Given the description of an element on the screen output the (x, y) to click on. 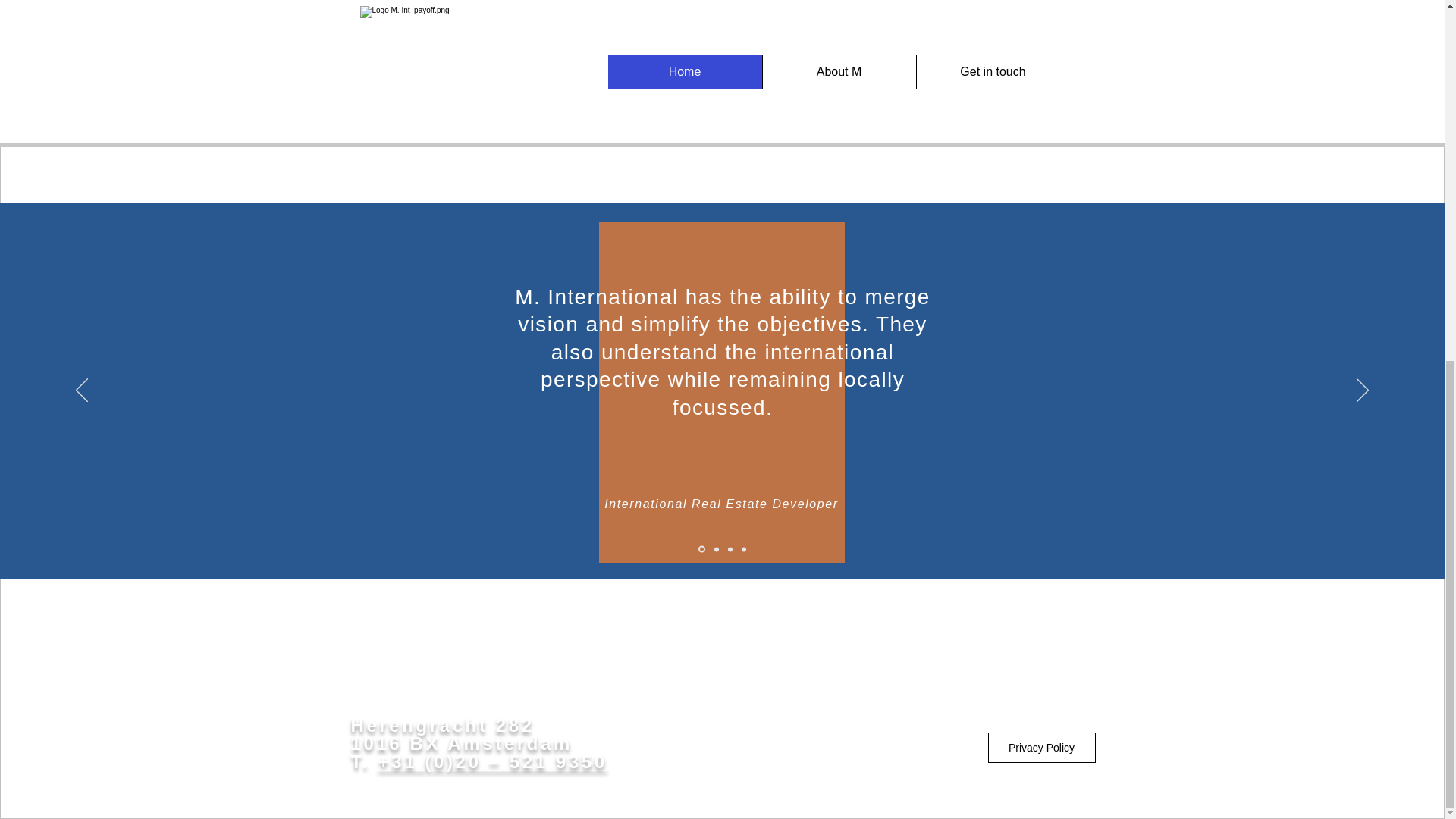
Privacy Policy (1040, 747)
For more details visit: (657, 101)
